Given the description of an element on the screen output the (x, y) to click on. 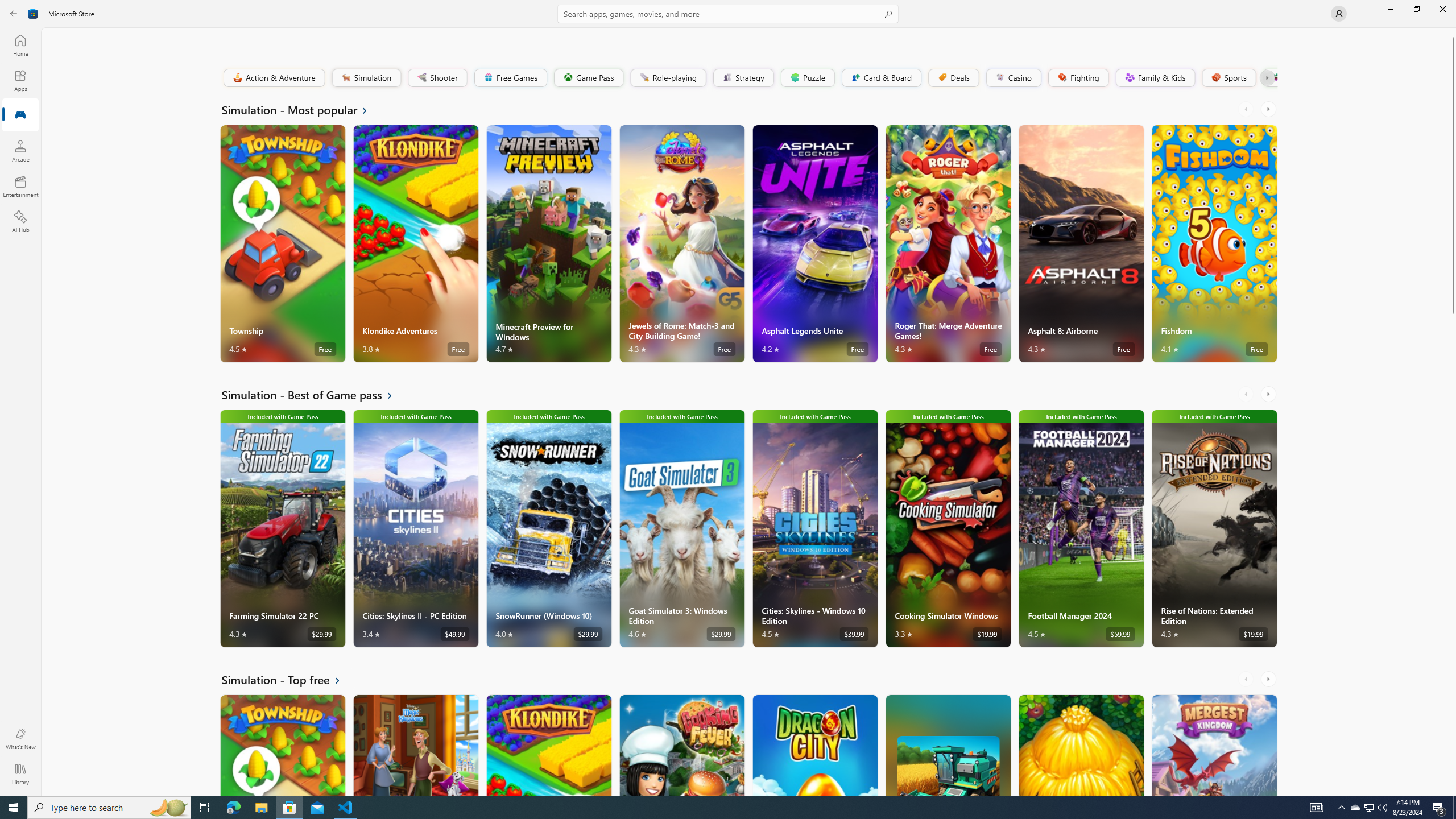
Puzzle (807, 77)
Role-playing (668, 77)
Simulation (365, 77)
Township. Average rating of 4.5 out of five stars. Free   (282, 745)
Game Pass (588, 77)
Class: Image (1274, 76)
Apps (20, 80)
Fishdom. Average rating of 4.1 out of five stars. Free   (1213, 243)
Class: Button (1266, 77)
Fighting (1078, 77)
